Given the description of an element on the screen output the (x, y) to click on. 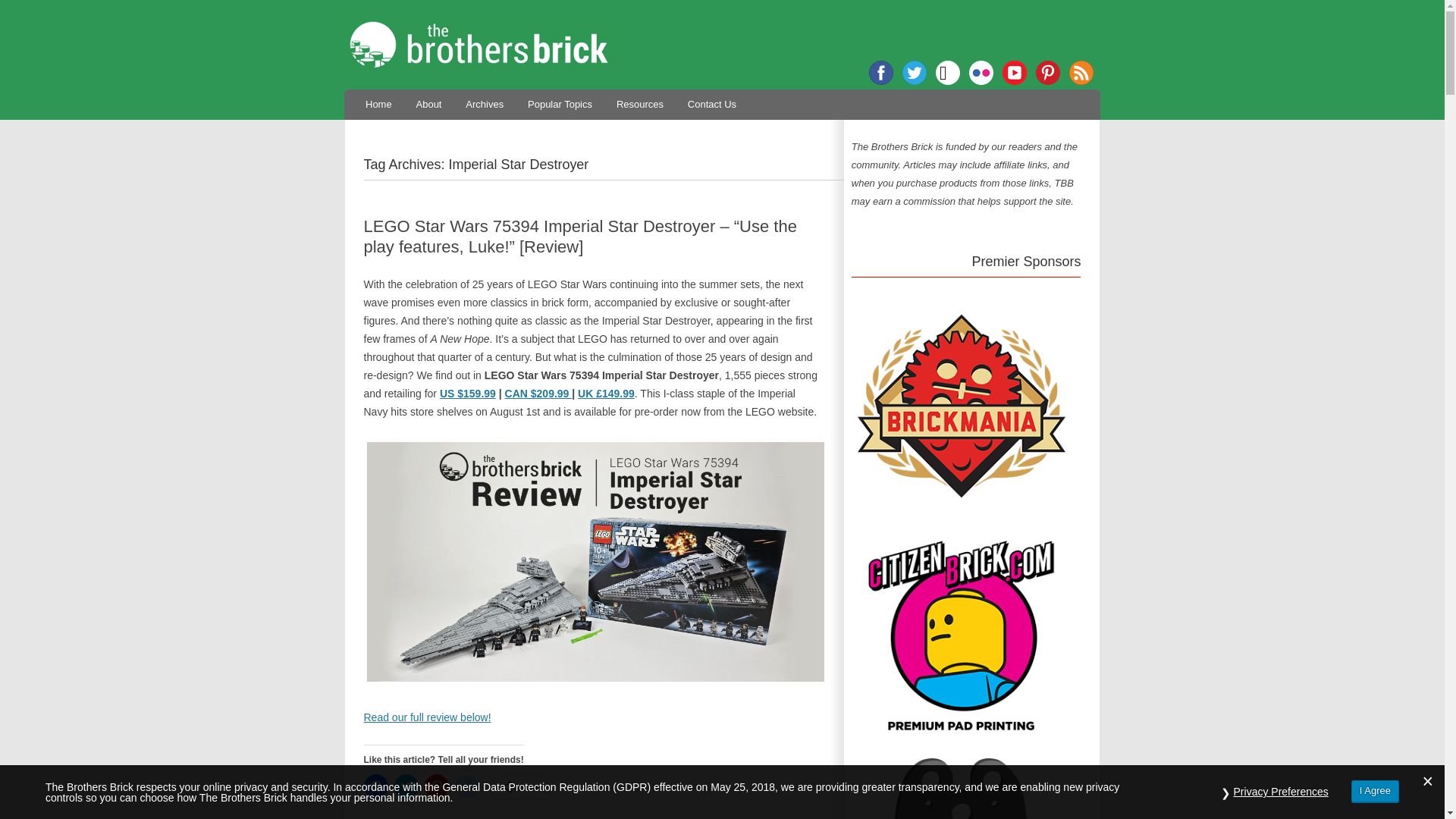
YouTube (1014, 72)
YouTube (1014, 72)
Facebook (881, 72)
Click to share on Twitter (406, 785)
Facebook (881, 72)
Pinterest (1047, 72)
Click to share on Facebook (376, 785)
RSS (1080, 72)
Click to share on Pinterest (436, 785)
Popular Topics (559, 103)
Instagram (947, 72)
The Brothers Brick (721, 44)
Home (378, 103)
Twitter (914, 72)
The Brothers Brick (721, 44)
